Given the description of an element on the screen output the (x, y) to click on. 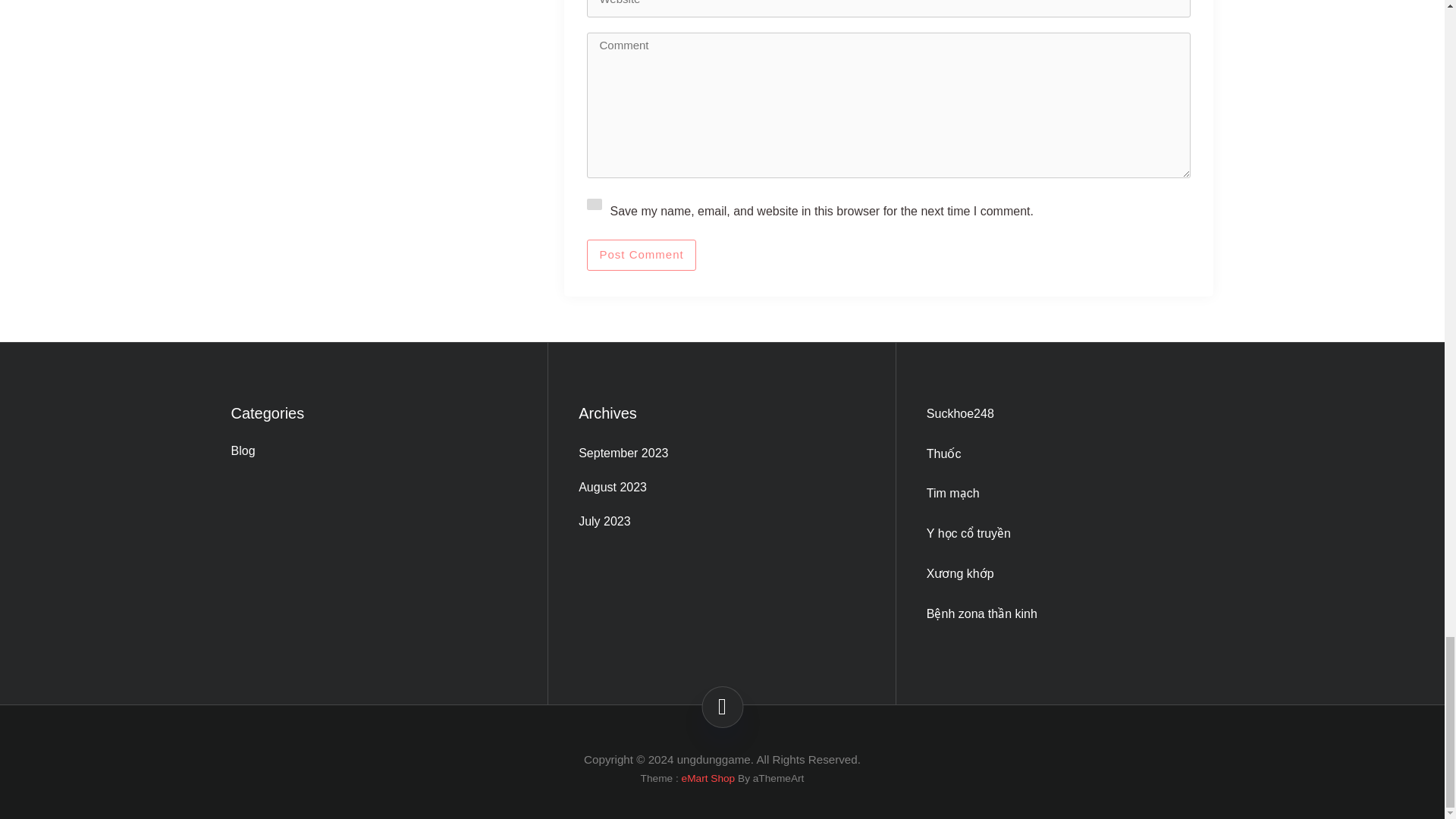
August 2023 (721, 487)
yes (594, 204)
July 2023 (721, 522)
Suckhoe248 (960, 413)
Post Comment (640, 255)
September 2023 (721, 454)
eMart Shop (708, 778)
Blog (373, 451)
